Given the description of an element on the screen output the (x, y) to click on. 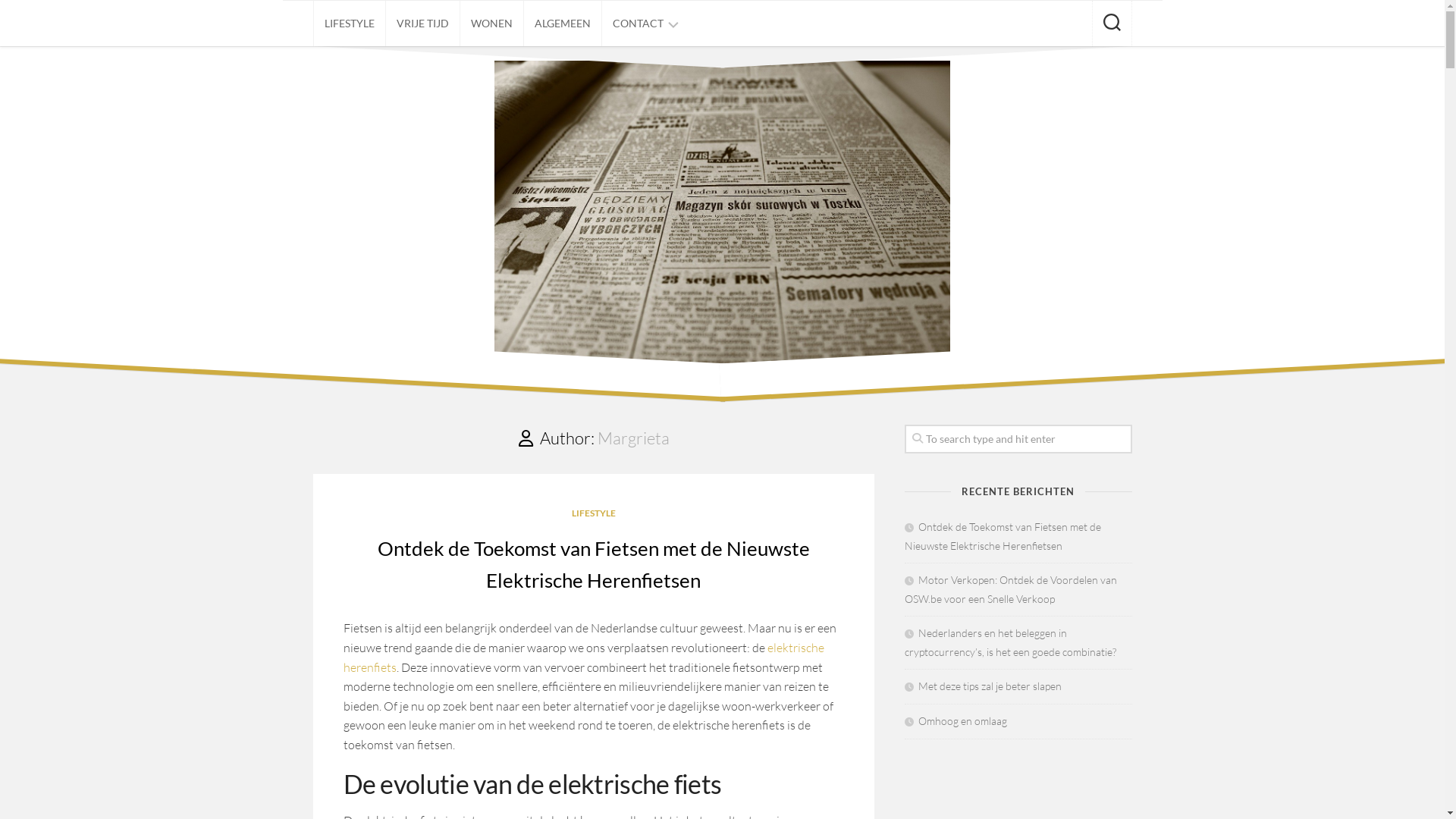
WONEN Element type: text (490, 23)
CONTACT Element type: text (637, 23)
ALGEMEEN Element type: text (561, 23)
LIFESTYLE Element type: text (349, 23)
elektrische herenfiets Element type: text (582, 657)
Met deze tips zal je beter slapen Element type: text (981, 685)
LIFESTYLE Element type: text (593, 512)
Omhoog en omlaag Element type: text (954, 720)
VRIJE TIJD Element type: text (421, 23)
